Given the description of an element on the screen output the (x, y) to click on. 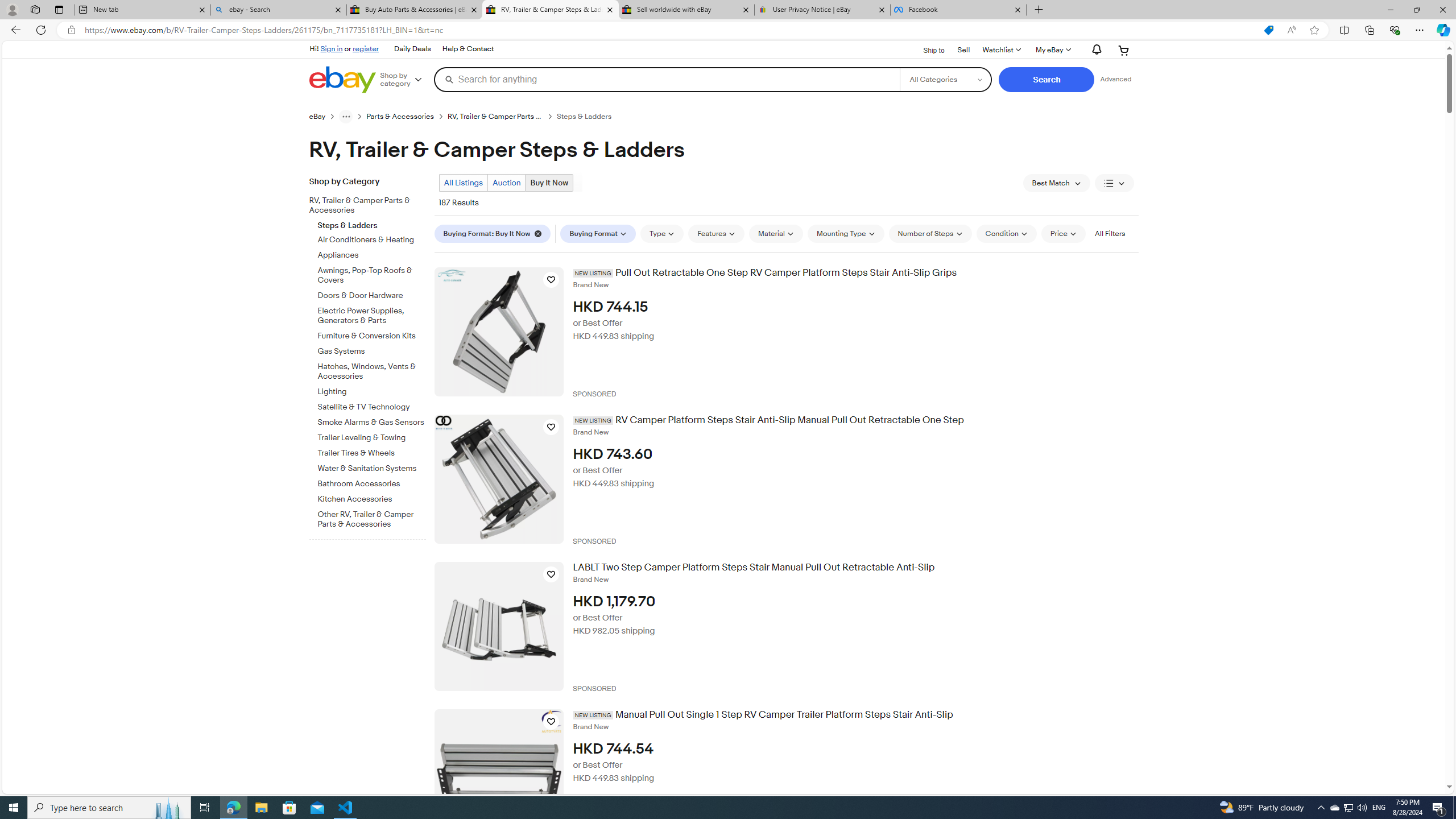
ebay - Search (277, 9)
View: List View (1114, 182)
eBay (323, 116)
